Given the description of an element on the screen output the (x, y) to click on. 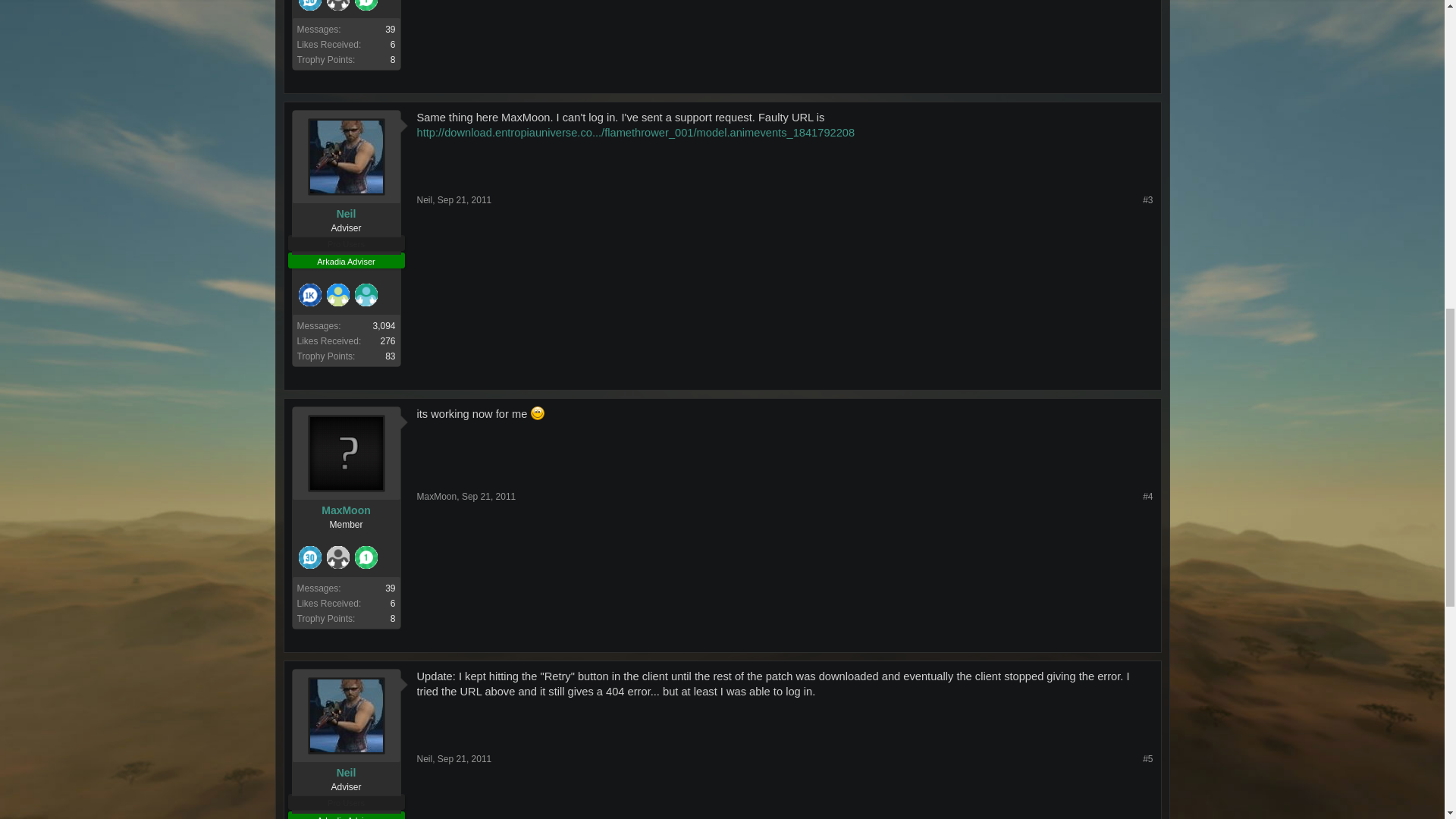
39 (389, 29)
Permalink (1147, 200)
Neil (424, 199)
Neil (346, 214)
Permalink (465, 199)
Permalink (488, 496)
83 (389, 356)
3,094 (383, 326)
8 (393, 59)
Sep 21, 2011 (465, 199)
